Given the description of an element on the screen output the (x, y) to click on. 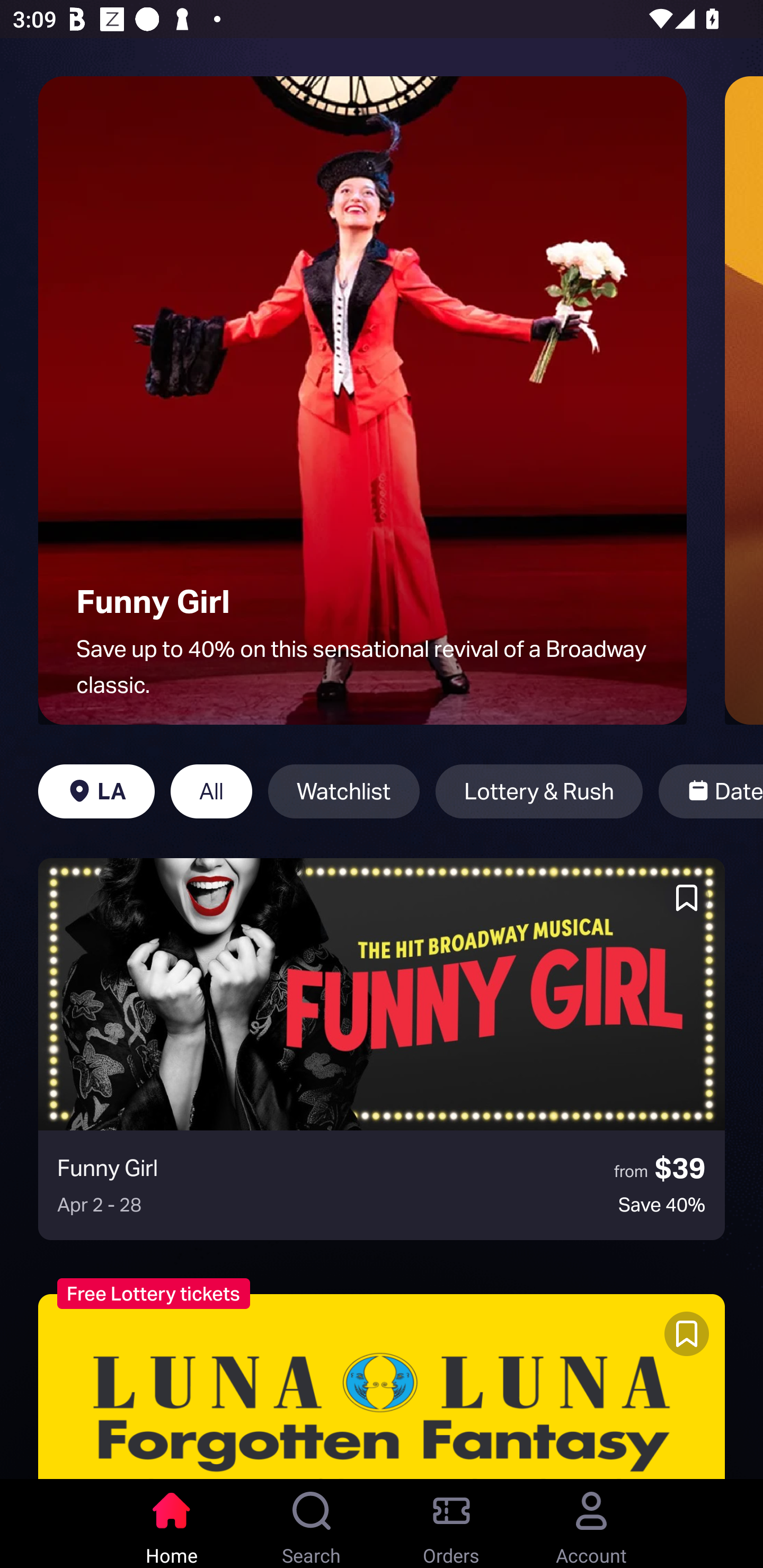
LA (96, 791)
All (211, 791)
Watchlist (343, 791)
Lottery & Rush (538, 791)
Funny Girl from $39 Apr 2 - 28 Save 40% (381, 1048)
Search (311, 1523)
Orders (451, 1523)
Account (591, 1523)
